Given the description of an element on the screen output the (x, y) to click on. 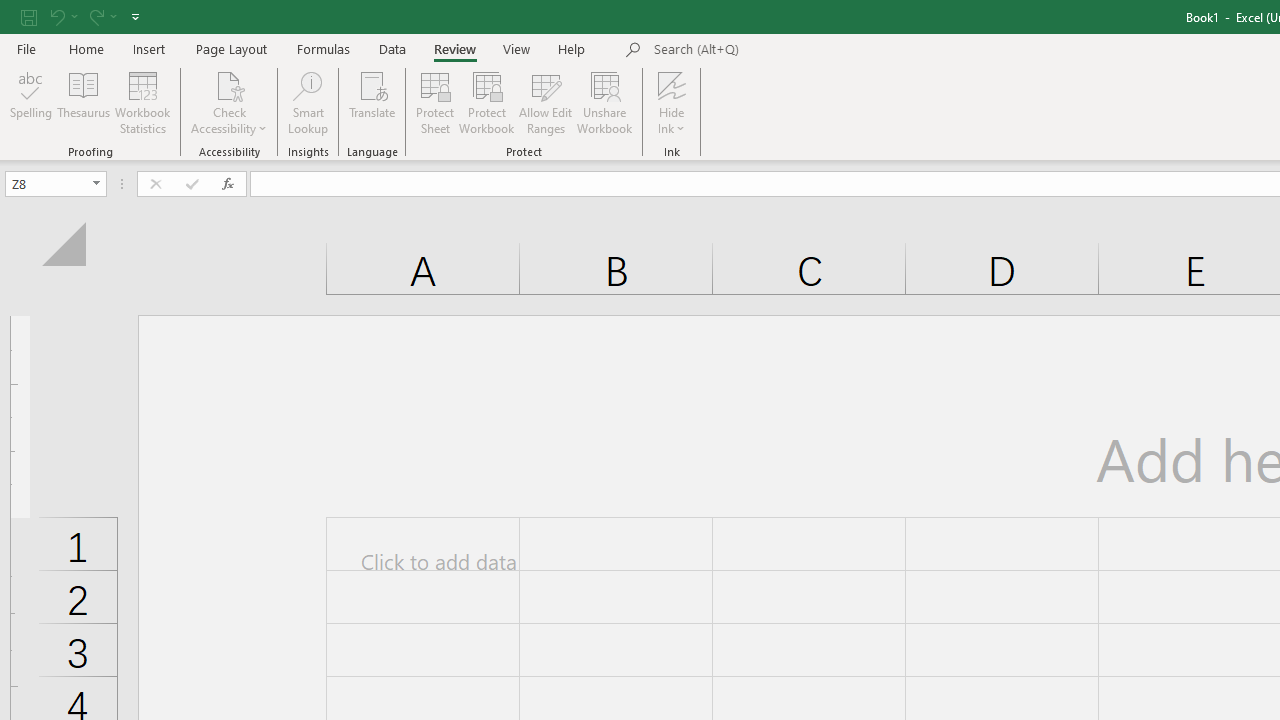
Undo (62, 15)
Open (96, 183)
Allow Edit Ranges (545, 102)
Workbook Statistics (142, 102)
Insert (149, 48)
Help (572, 48)
Name Box (46, 183)
Spelling... (31, 102)
View (517, 48)
Protect Workbook... (486, 102)
Home (86, 48)
Unshare Workbook (604, 102)
System (10, 11)
More Options (671, 121)
Smart Lookup (308, 102)
